Given the description of an element on the screen output the (x, y) to click on. 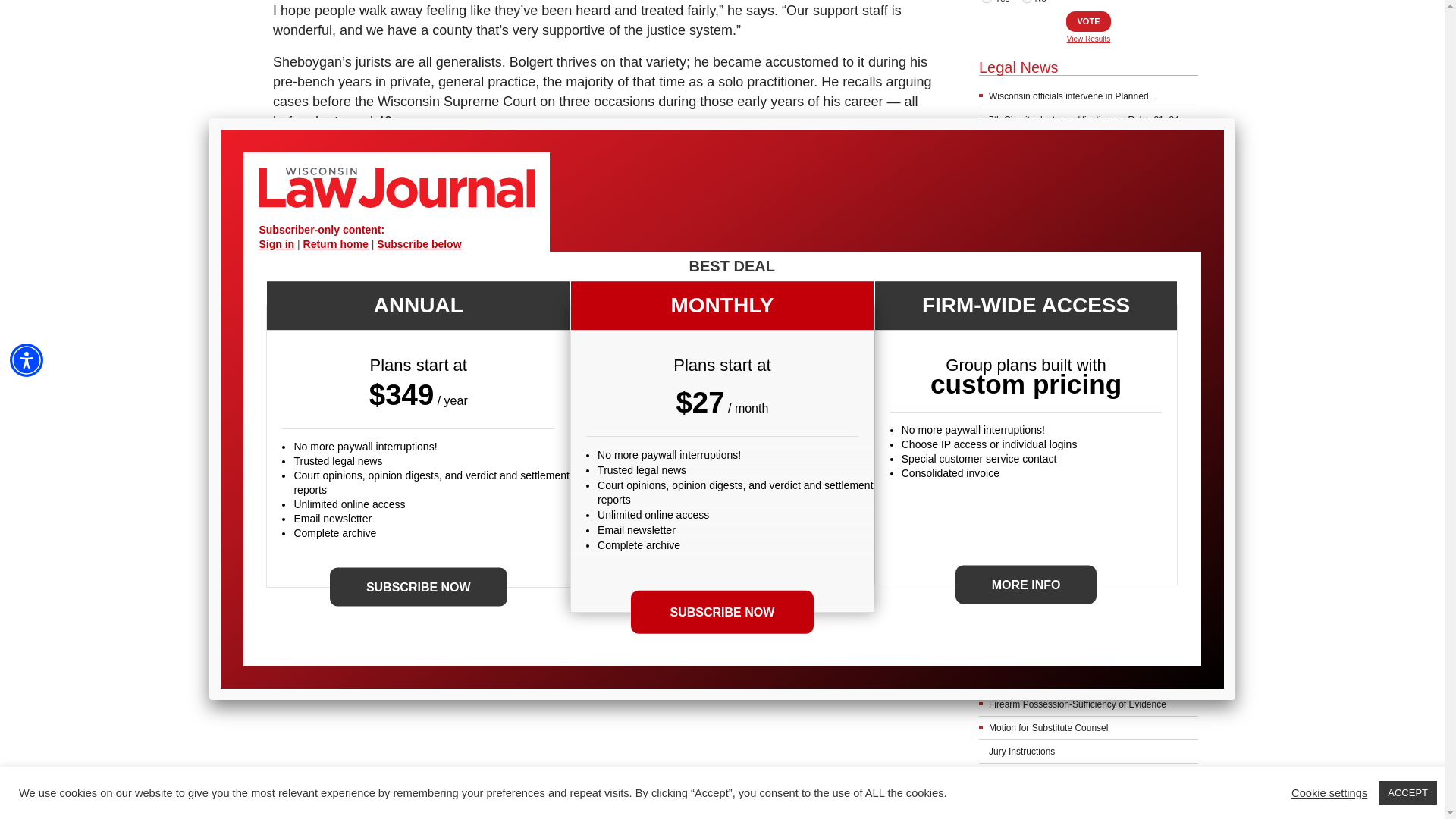
501 (986, 2)
502 (1027, 2)
